Given the description of an element on the screen output the (x, y) to click on. 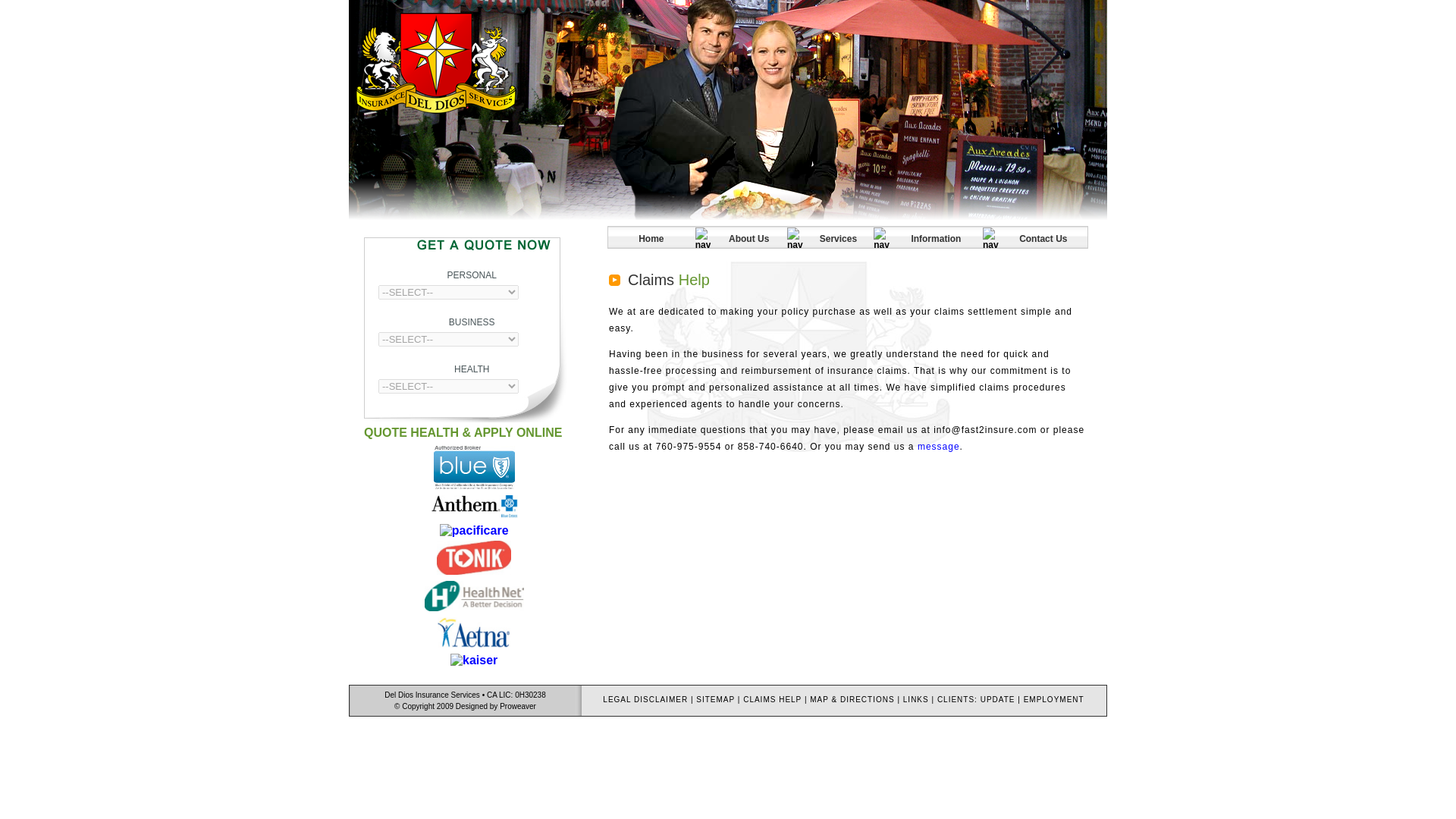
CLAIMS HELP (772, 699)
About Us (748, 238)
LINKS (915, 699)
CLIENTS: UPDATE (975, 699)
message (938, 446)
LEGAL DISCLAIMER (644, 699)
Information (936, 238)
Services (838, 238)
EMPLOYMENT (1053, 699)
SITEMAP (715, 699)
Home (651, 238)
Contact Us (1043, 238)
